Given the description of an element on the screen output the (x, y) to click on. 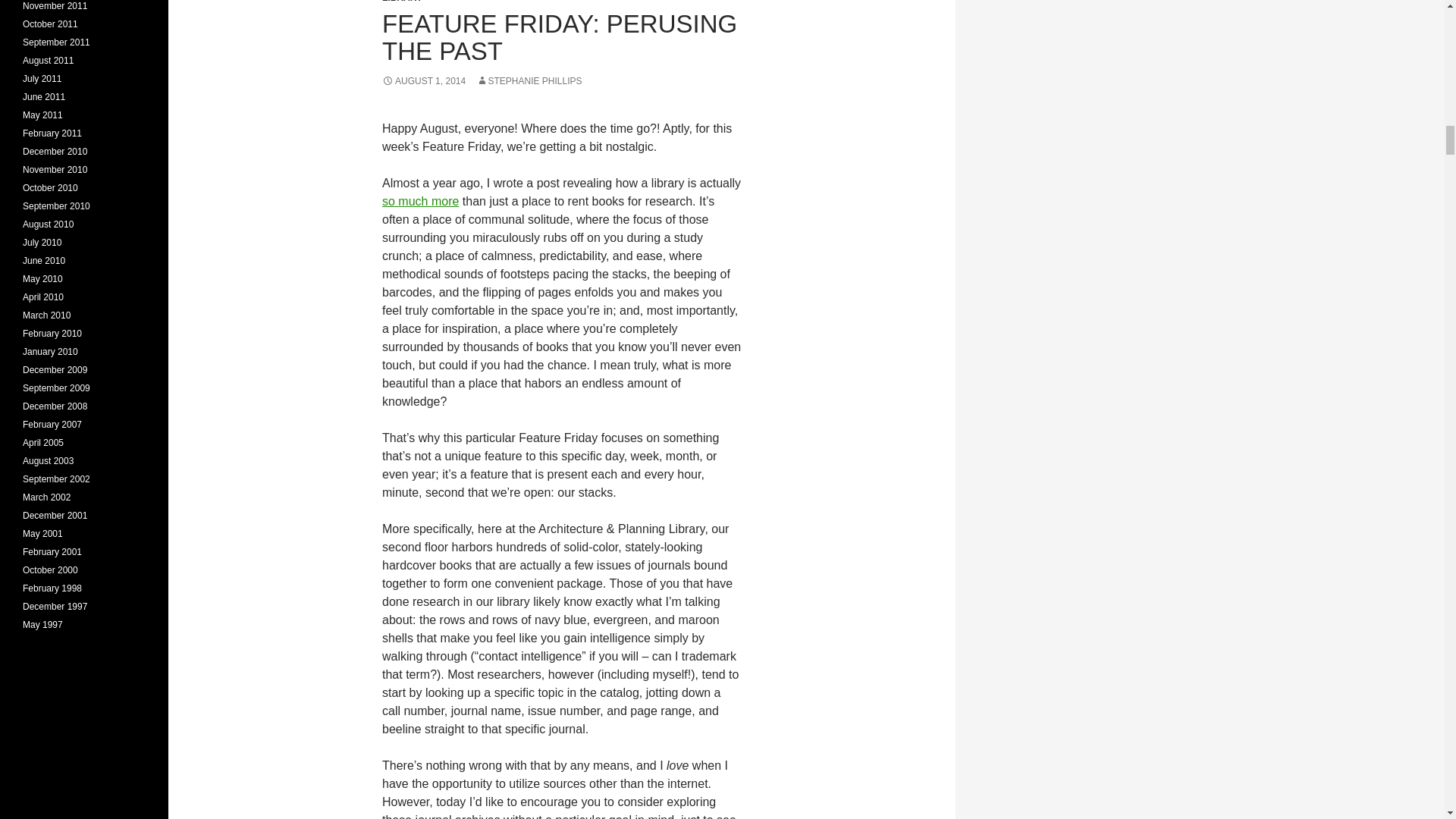
STEPHANIE PHILLIPS (529, 81)
FEATURE FRIDAY: PERUSING THE PAST (558, 37)
so much more (419, 201)
AUGUST 1, 2014 (423, 81)
LIBRARY (401, 1)
